Given the description of an element on the screen output the (x, y) to click on. 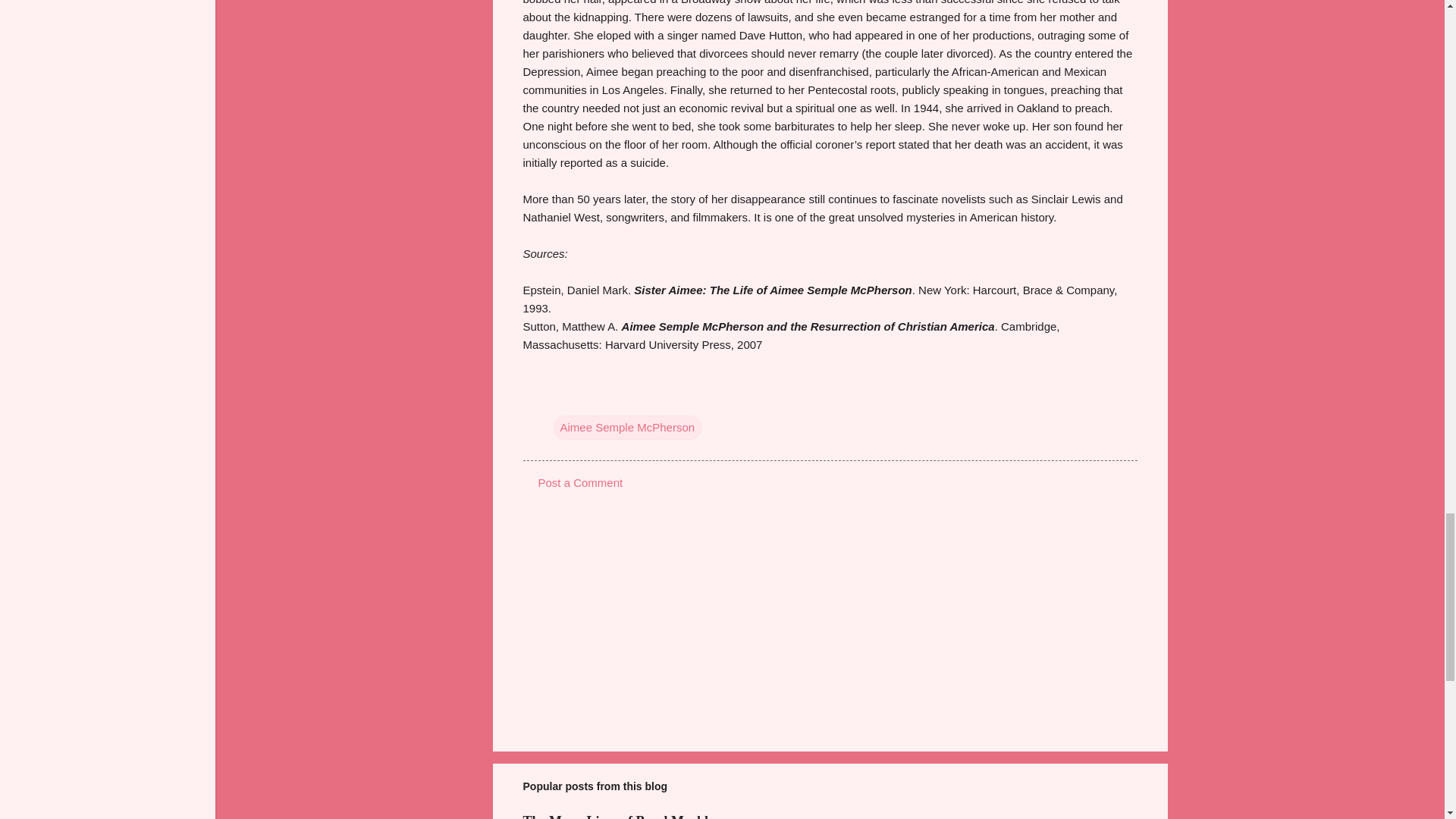
Email Post (562, 395)
Post a Comment (580, 481)
The Many Lives of Beryl Markham (626, 816)
Aimee Semple McPherson (627, 427)
